Given the description of an element on the screen output the (x, y) to click on. 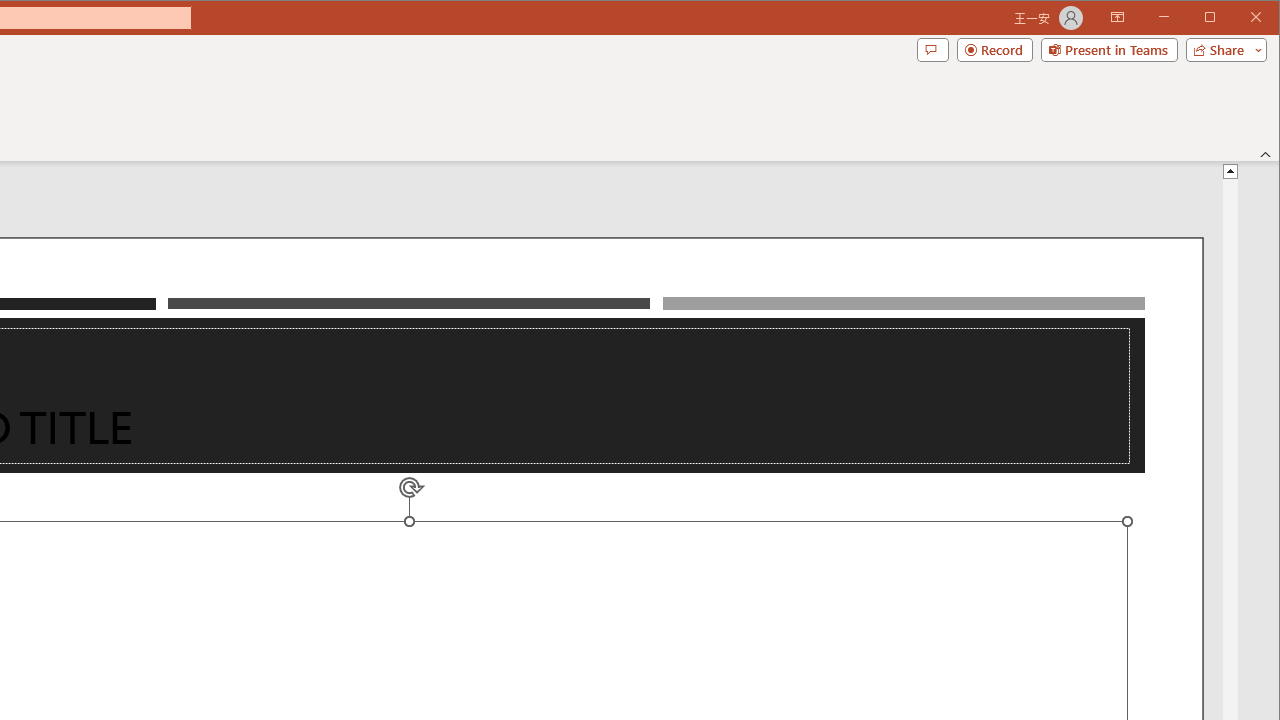
Ribbon Display Options (1117, 17)
Share (1222, 49)
Maximize (1238, 18)
Collapse the Ribbon (1266, 154)
Close (1261, 18)
Present in Teams (1108, 49)
Line up (1230, 170)
Minimize (1216, 18)
Comments (932, 49)
